Given the description of an element on the screen output the (x, y) to click on. 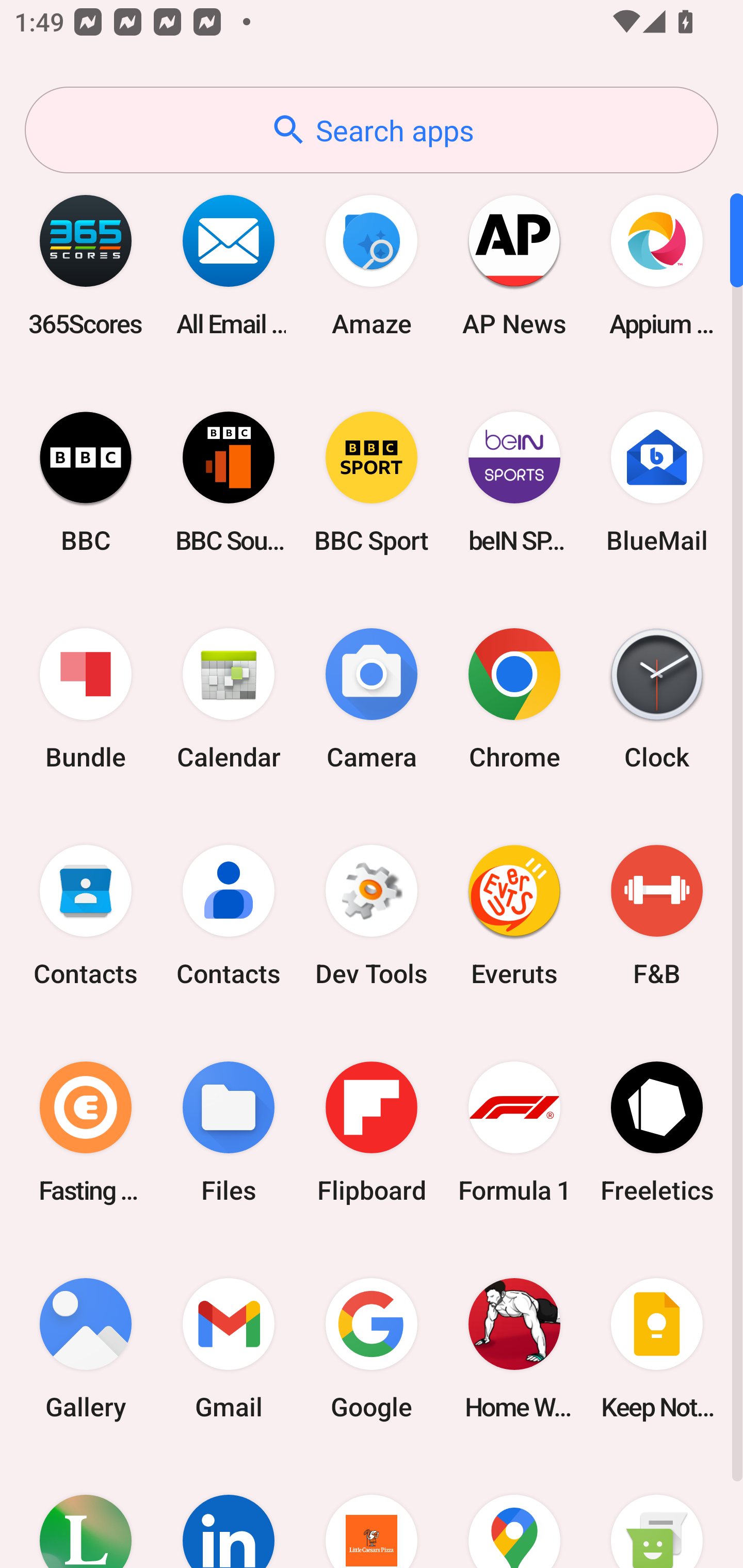
  Search apps (371, 130)
365Scores (85, 264)
All Email Connect (228, 264)
Amaze (371, 264)
AP News (514, 264)
Appium Settings (656, 264)
BBC (85, 482)
BBC Sounds (228, 482)
BBC Sport (371, 482)
beIN SPORTS (514, 482)
BlueMail (656, 482)
Bundle (85, 699)
Calendar (228, 699)
Camera (371, 699)
Chrome (514, 699)
Clock (656, 699)
Contacts (85, 915)
Contacts (228, 915)
Dev Tools (371, 915)
Everuts (514, 915)
F&B (656, 915)
Fasting Coach (85, 1131)
Files (228, 1131)
Flipboard (371, 1131)
Formula 1 (514, 1131)
Freeletics (656, 1131)
Gallery (85, 1348)
Gmail (228, 1348)
Google (371, 1348)
Home Workout (514, 1348)
Keep Notes (656, 1348)
Lifesum (85, 1512)
LinkedIn (228, 1512)
Little Caesars Pizza (371, 1512)
Maps (514, 1512)
Messaging (656, 1512)
